Given the description of an element on the screen output the (x, y) to click on. 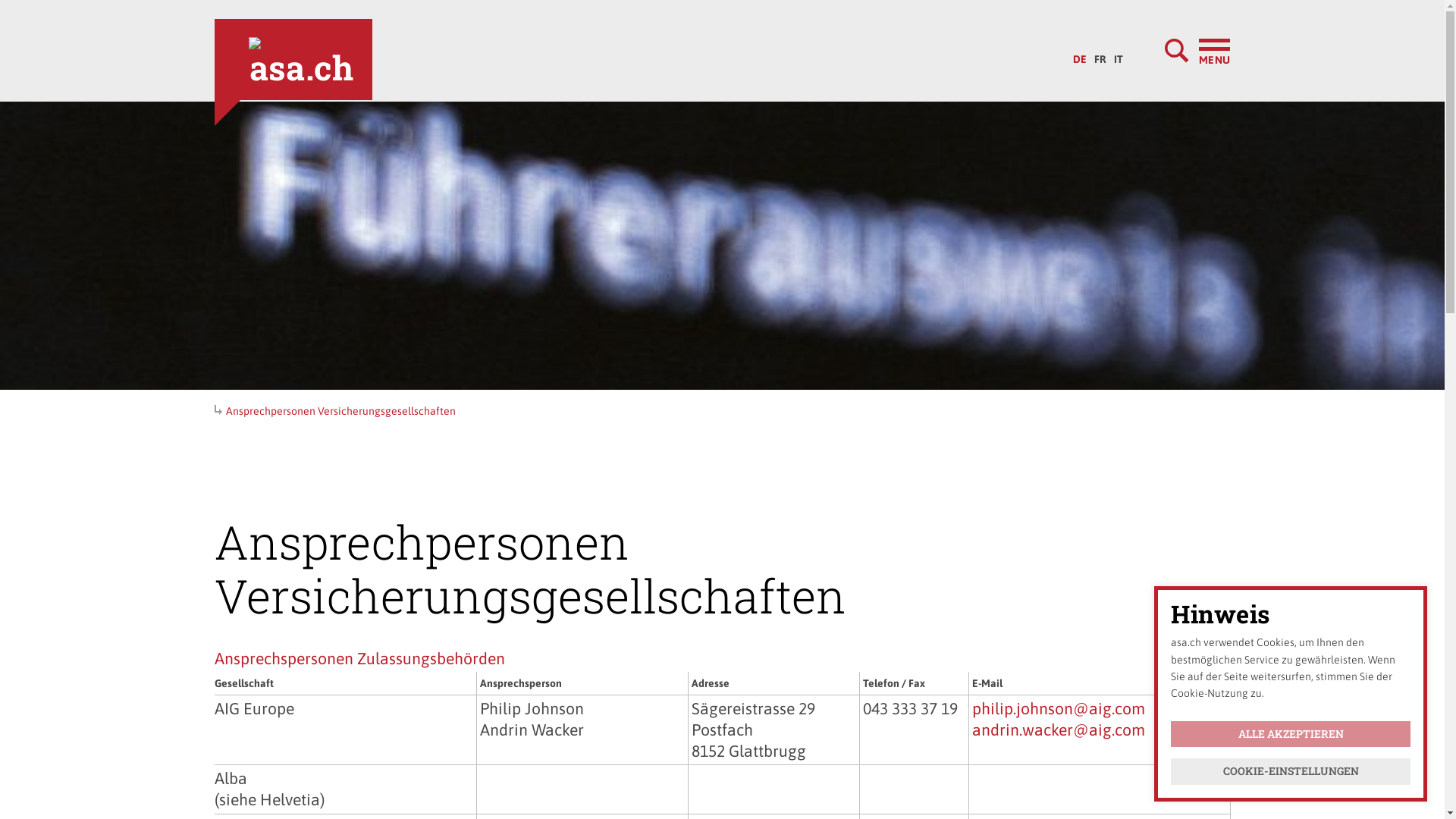
FR Element type: text (1100, 55)
COOKIE-EINSTELLUNGEN Element type: text (1290, 771)
andrin.wacker@aig.com Element type: text (1058, 729)
DE Element type: text (1079, 55)
MENU Element type: text (1197, 50)
philip.johnson@aig.com Element type: text (1058, 708)
IT Element type: text (1118, 55)
ALLE AKZEPTIEREN Element type: text (1290, 734)
